Given the description of an element on the screen output the (x, y) to click on. 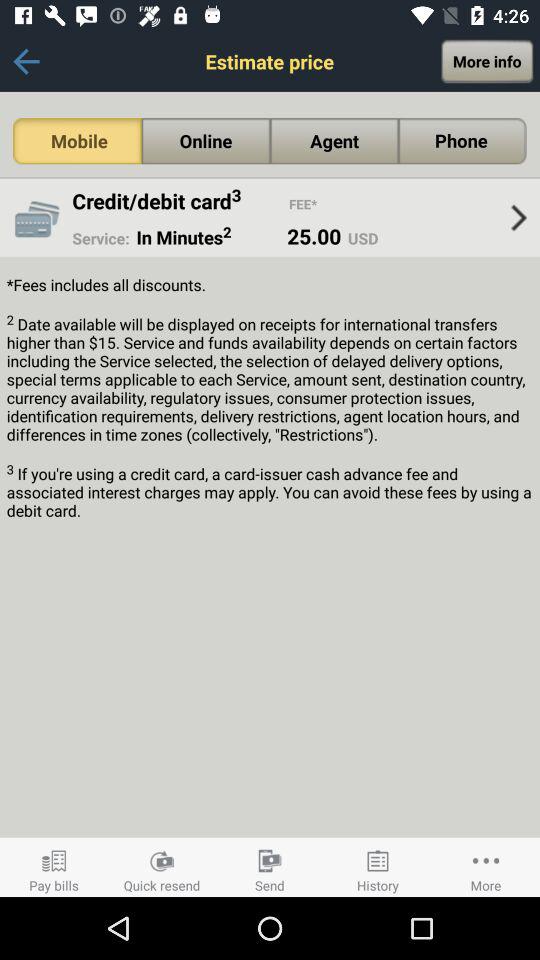
turn off mobile (77, 141)
